Given the description of an element on the screen output the (x, y) to click on. 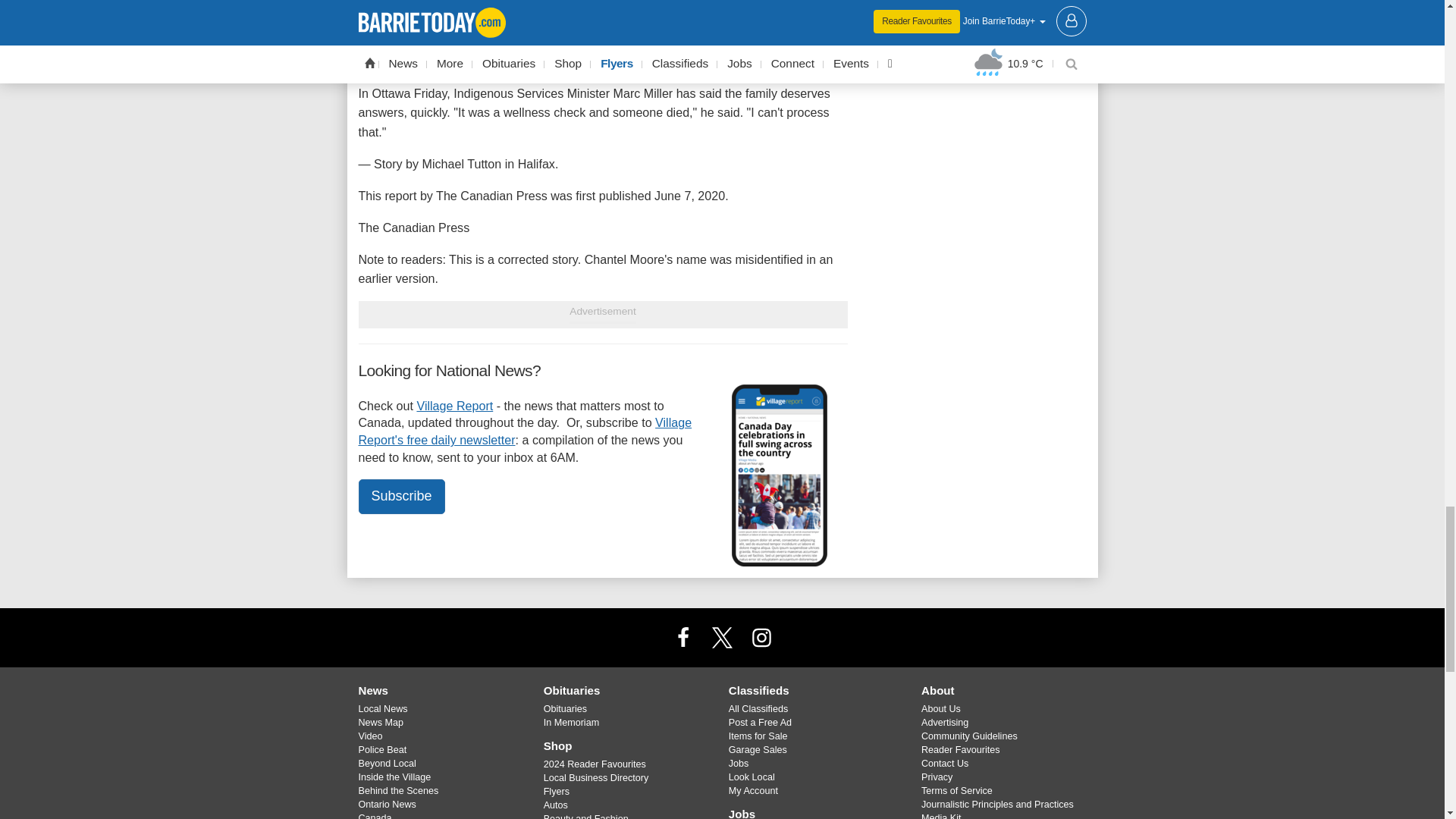
Instagram (760, 637)
X (721, 637)
Facebook (683, 637)
